Given the description of an element on the screen output the (x, y) to click on. 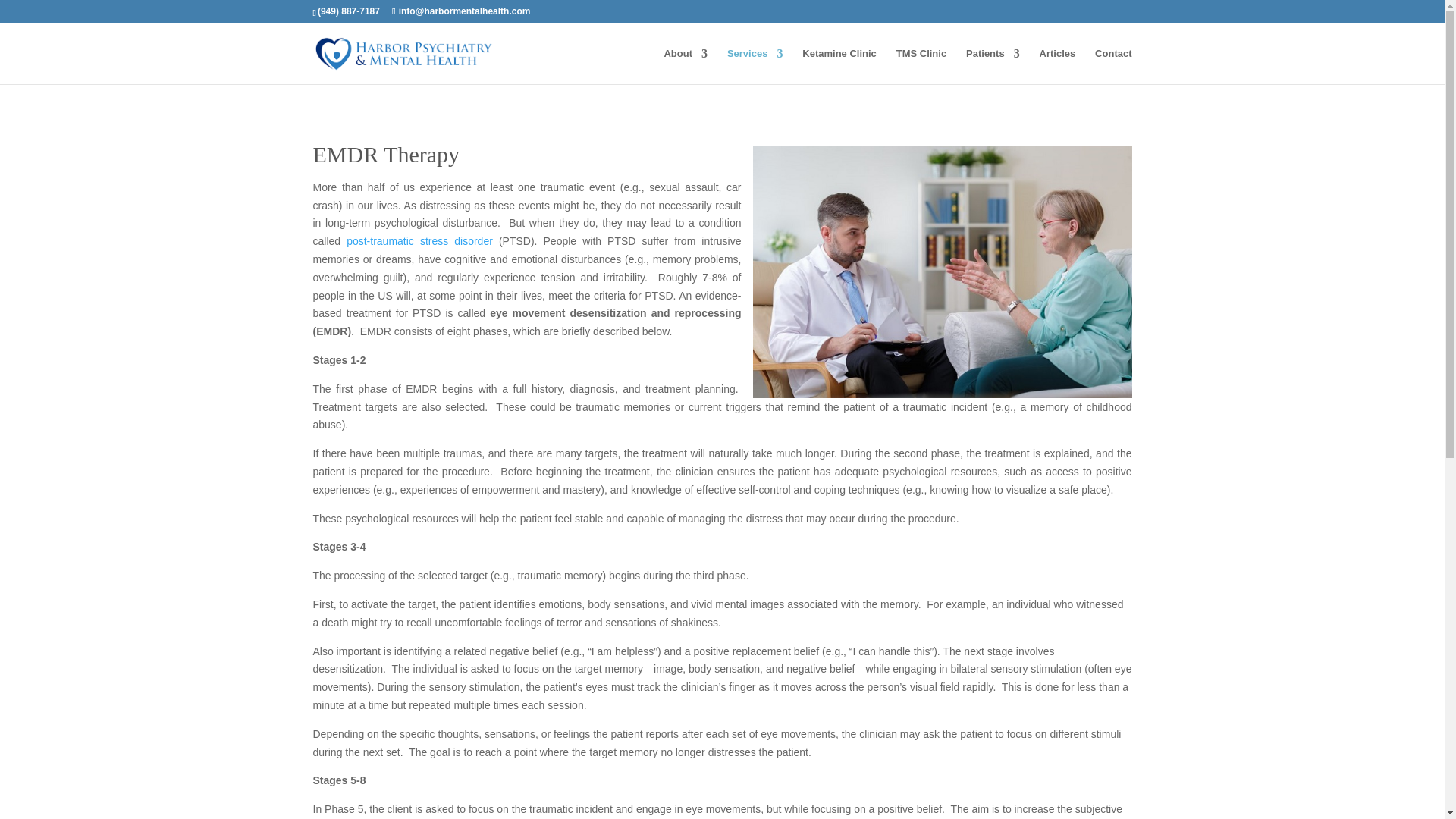
Contact (1112, 66)
Patients (993, 66)
Articles (1057, 66)
Ketamine Clinic (839, 66)
TMS Clinic (921, 66)
Services (754, 66)
About (685, 66)
